Given the description of an element on the screen output the (x, y) to click on. 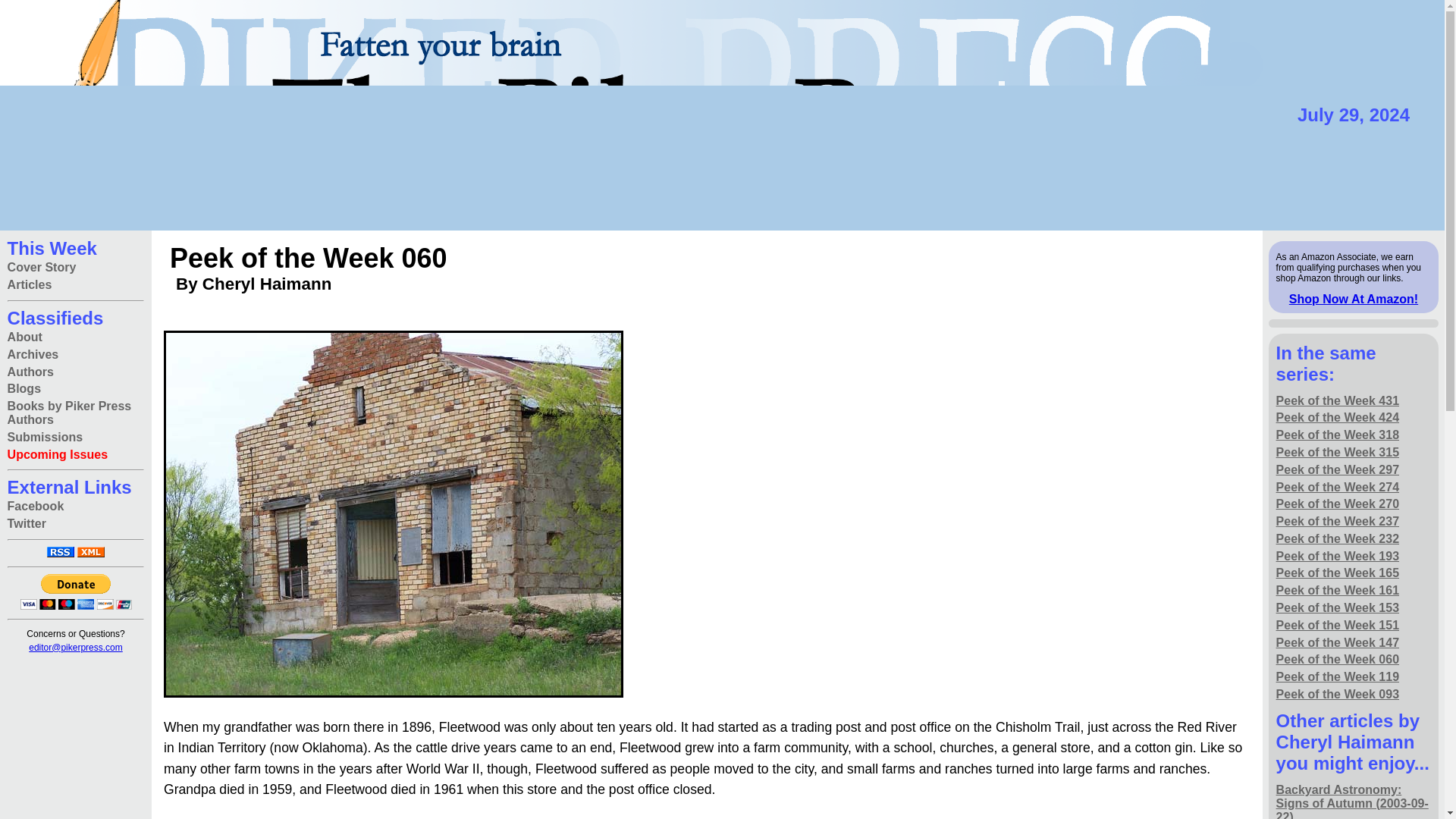
Peek of the Week 147 (1337, 642)
Books by Piker Press Authors (75, 413)
Peek of the Week 151 (1337, 624)
Peek of the Week 165 (1337, 573)
Shop Now At Amazon! (1353, 298)
Peek of the Week 060 (1337, 660)
Submissions (44, 437)
Peek of the Week 119 (1337, 677)
Archives (33, 354)
Peek of the Week 270 (1337, 504)
Peek of the Week 274 (1337, 487)
Peek of the Week 424 (1337, 417)
Peek of the Week 093 (1337, 693)
Peek of the Week 315 (1337, 452)
Peek of the Week 153 (1337, 608)
